Given the description of an element on the screen output the (x, y) to click on. 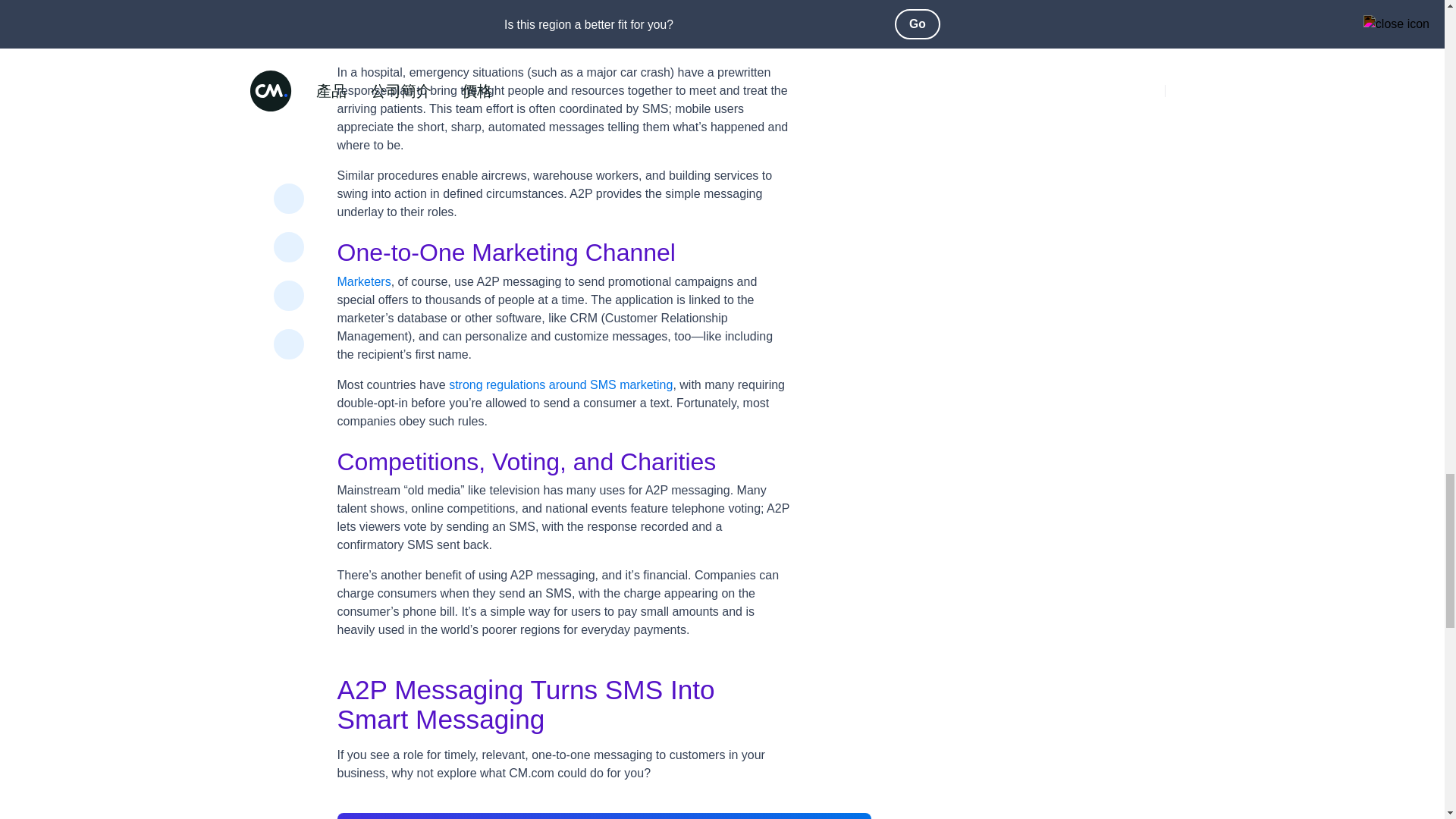
Marketers (363, 281)
strong regulations around SMS marketing (560, 384)
